Given the description of an element on the screen output the (x, y) to click on. 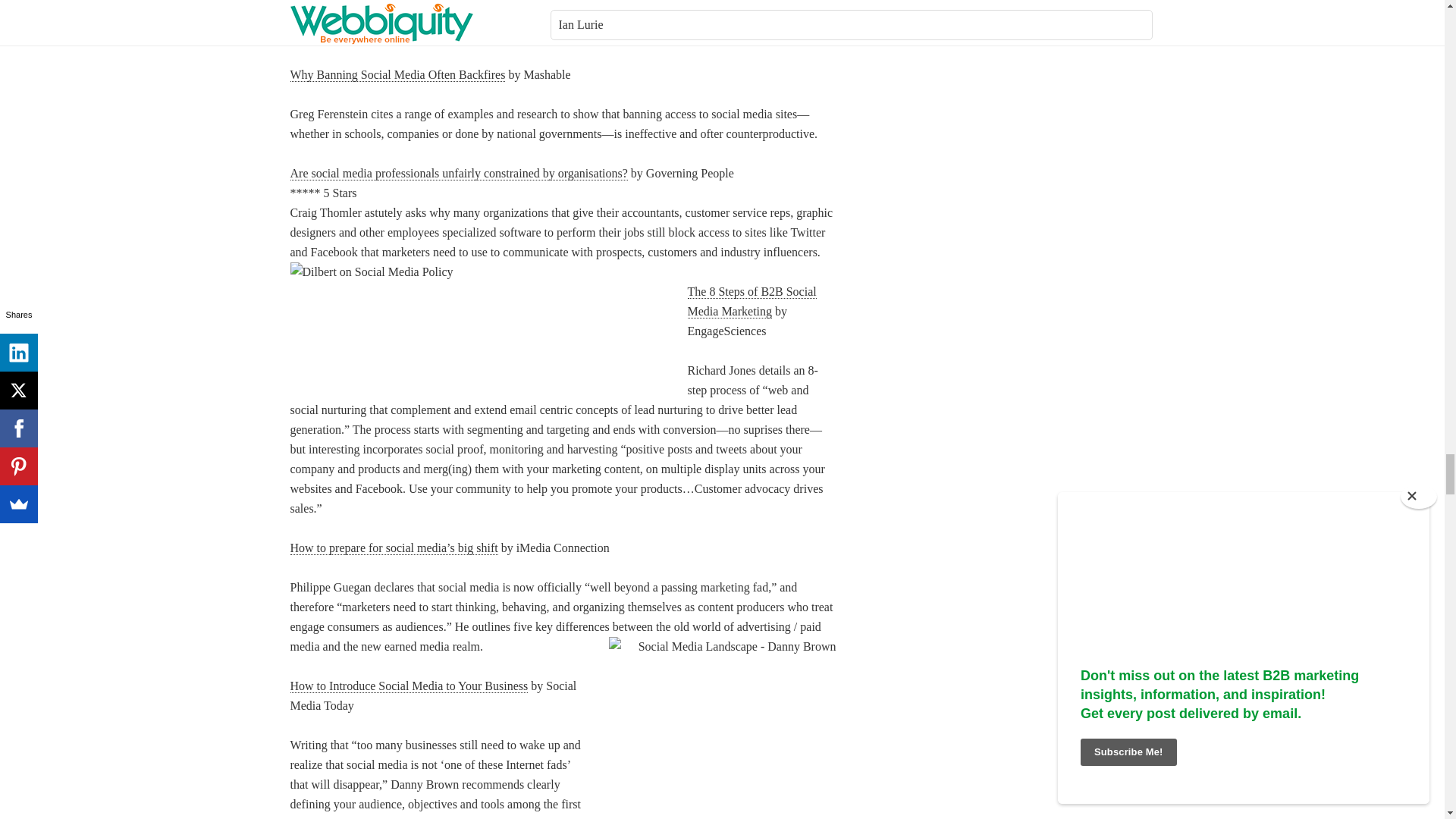
Dilbert-SM-policy-strip (478, 321)
social-media-landscape-2 (721, 722)
